Given the description of an element on the screen output the (x, y) to click on. 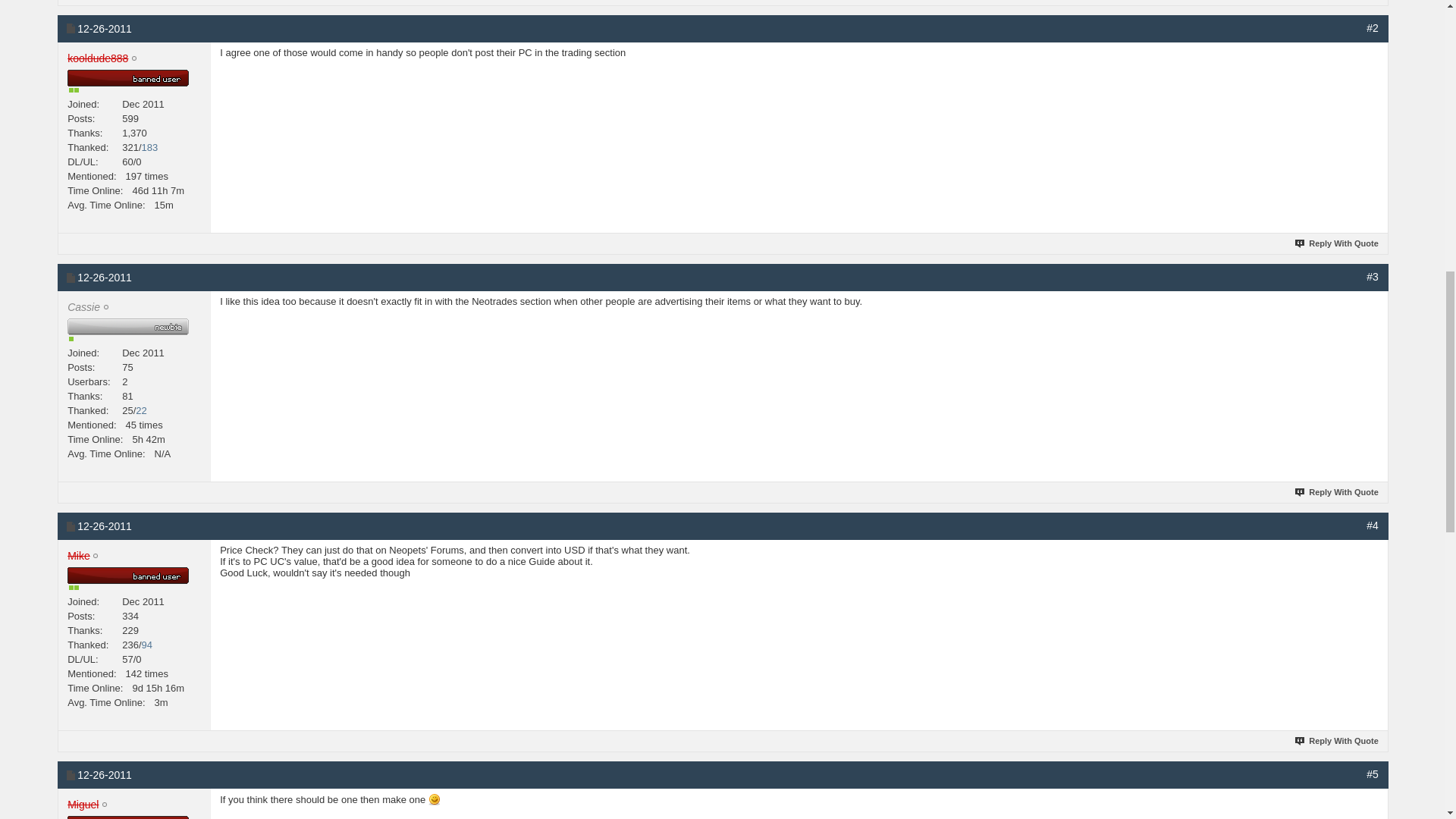
kooldude888 is offline (97, 58)
